Given the description of an element on the screen output the (x, y) to click on. 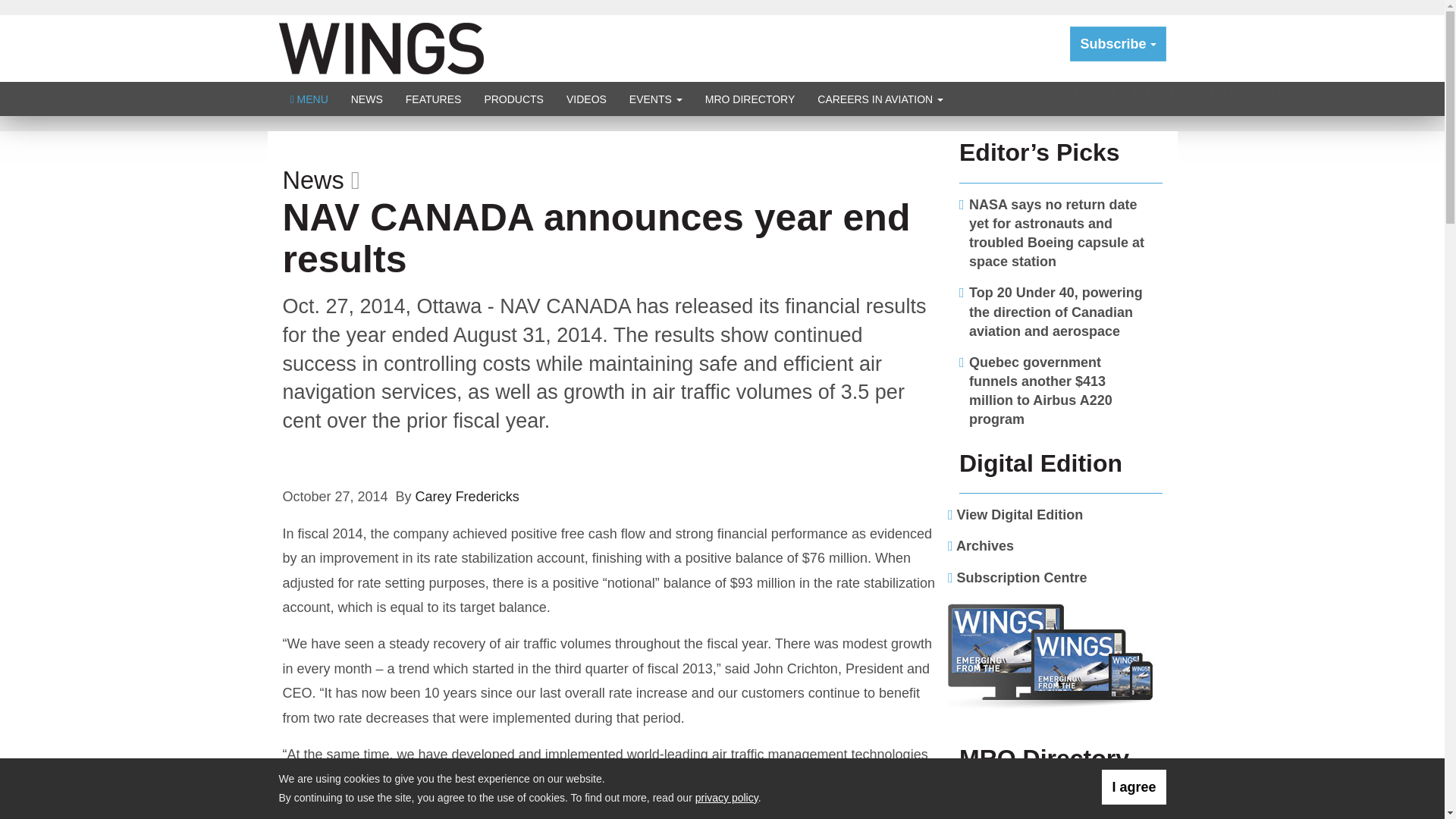
CAREERS IN AVIATION (880, 98)
VIDEOS (585, 98)
Subscribe (1118, 43)
MENU (309, 98)
Wings Magazine (381, 47)
PRODUCTS (512, 98)
Click to show site navigation (309, 98)
NEWS (366, 98)
EVENTS (655, 98)
MRO DIRECTORY (750, 98)
FEATURES (433, 98)
